Given the description of an element on the screen output the (x, y) to click on. 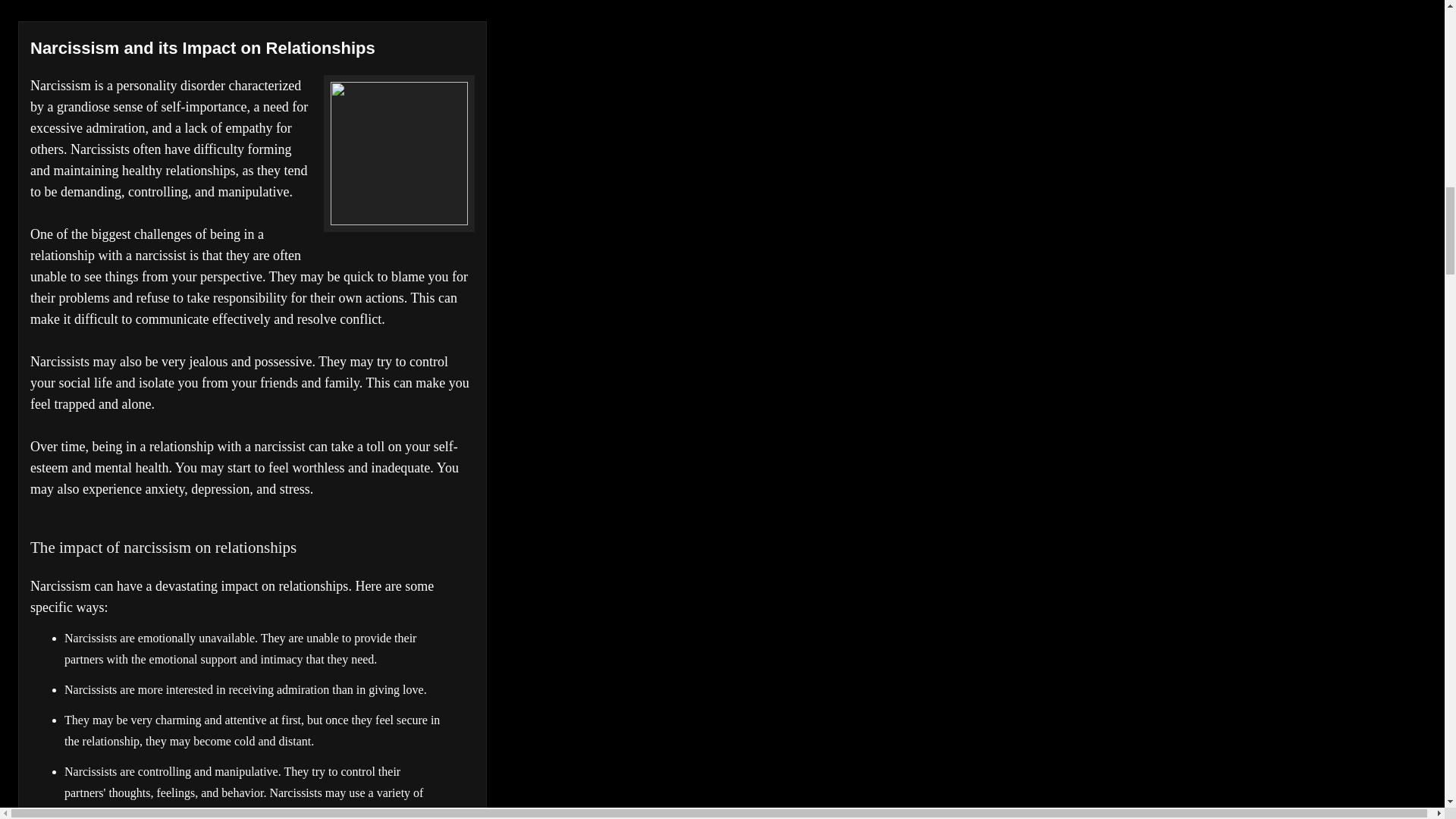
Narcissism and its Impact on Relationships (202, 47)
